Given the description of an element on the screen output the (x, y) to click on. 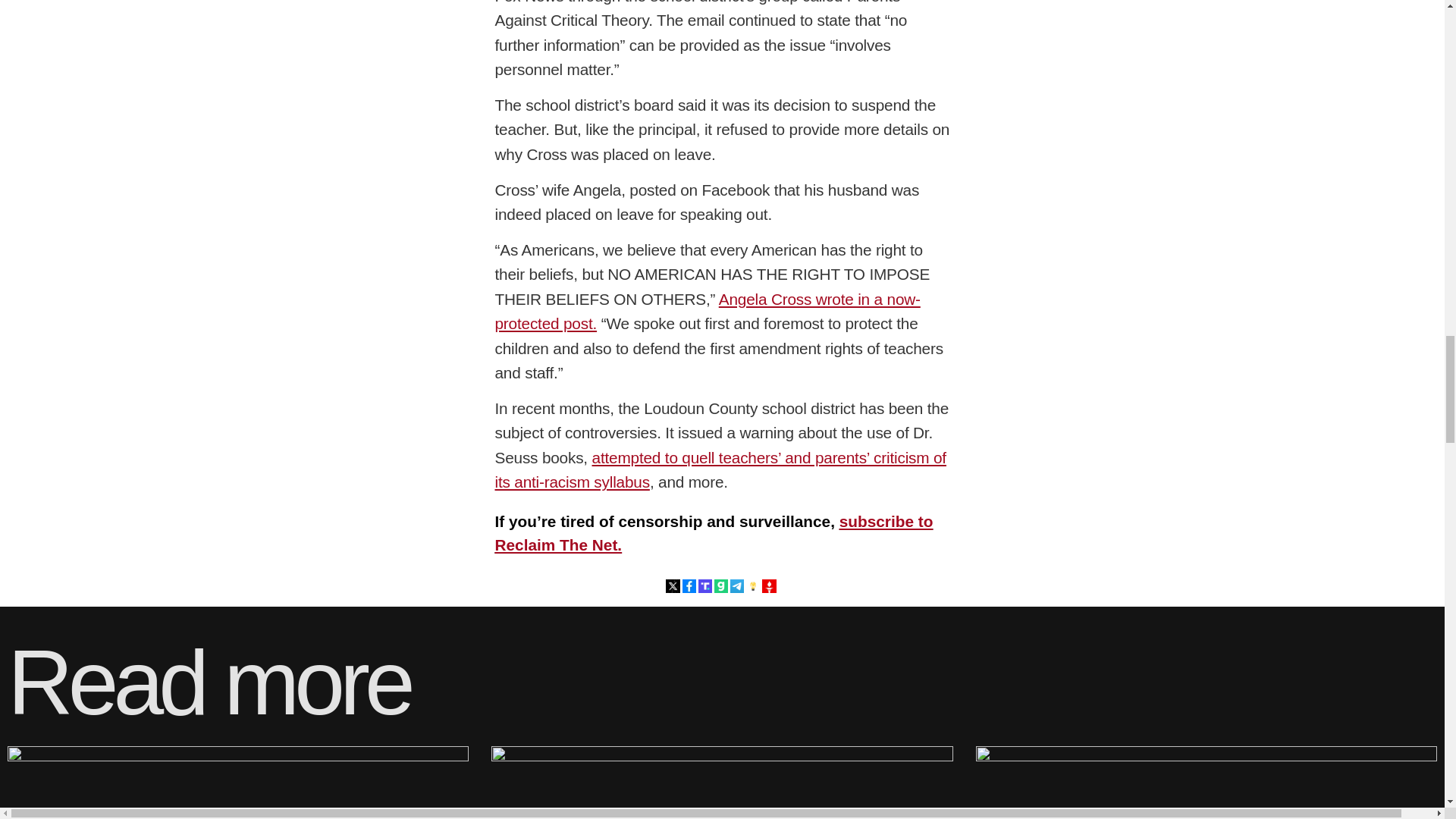
Angela Cross wrote in a now-protected post. (707, 311)
subscribe to Reclaim The Net. (714, 532)
